Given the description of an element on the screen output the (x, y) to click on. 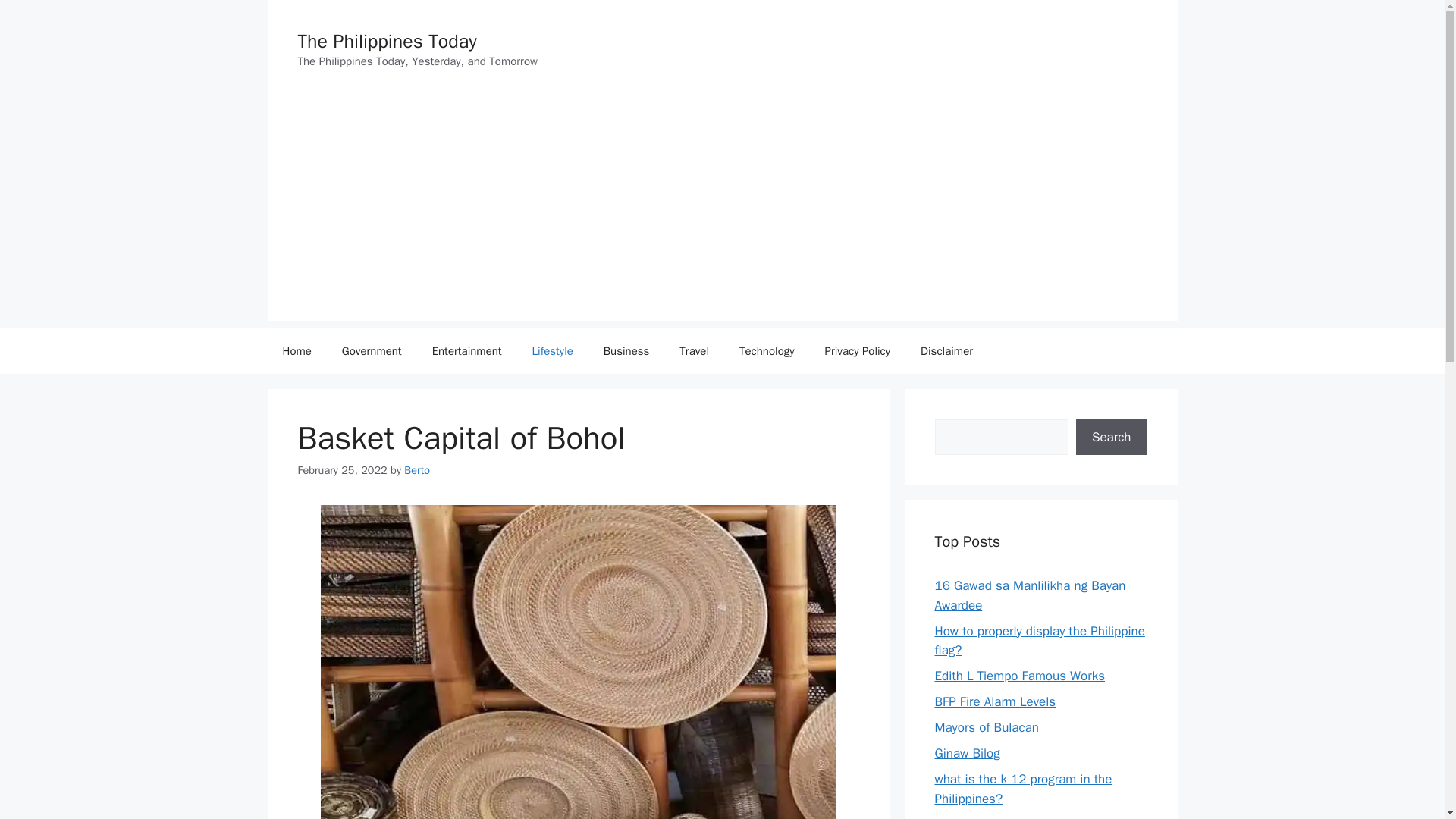
Mayors of Bulacan (986, 727)
Entertainment (466, 350)
Disclaimer (946, 350)
View all posts by Berto (416, 469)
what is the k 12 program in the Philippines? (1023, 788)
Edith L Tiempo Famous Works (1018, 675)
Privacy Policy (857, 350)
BFP Fire Alarm Levels (994, 701)
